Given the description of an element on the screen output the (x, y) to click on. 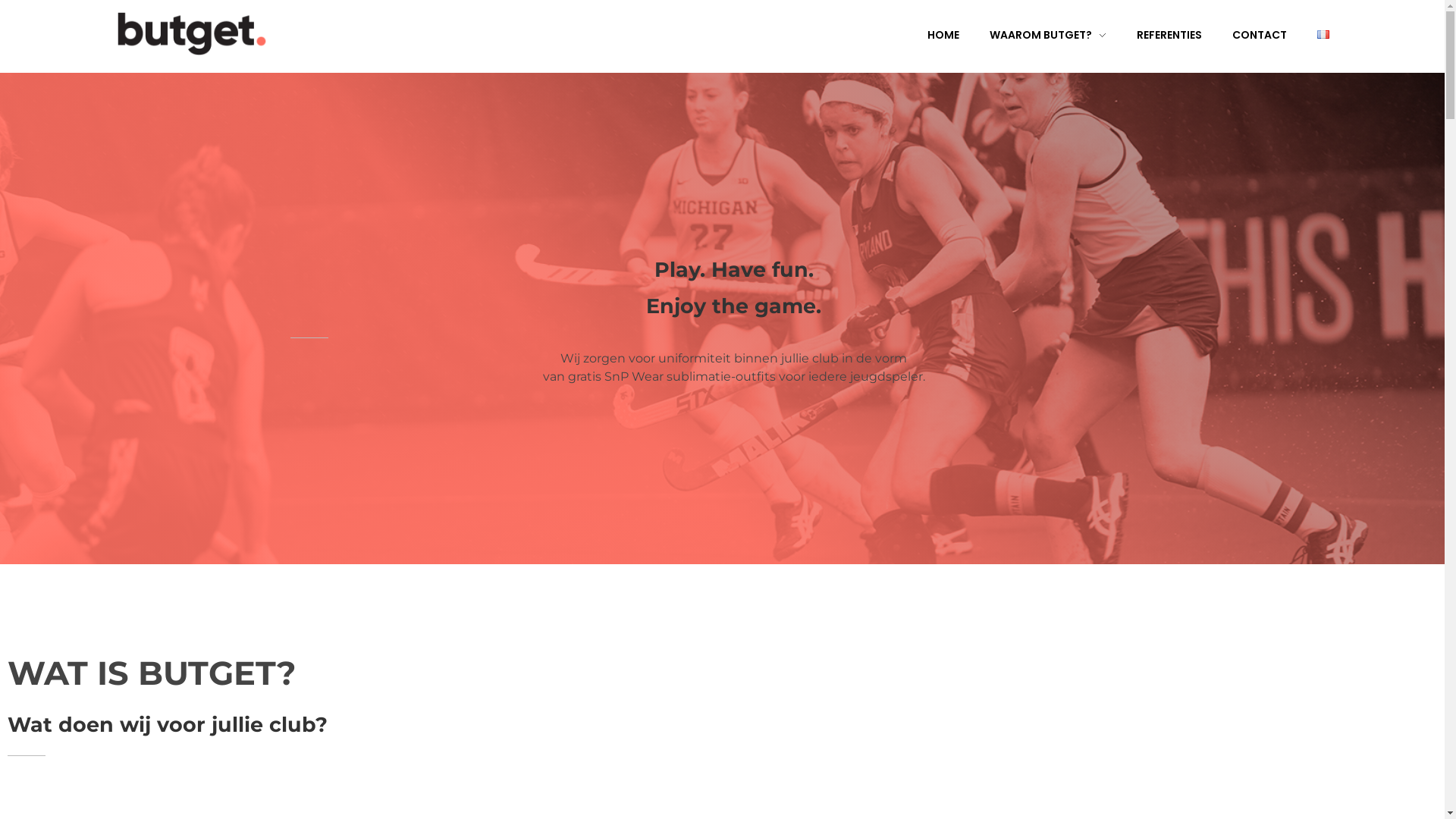
REFERENTIES Element type: text (1153, 35)
HOME Element type: text (928, 35)
WAAROM BUTGET? Element type: text (1032, 35)
Butget Element type: text (144, 64)
Butget Element type: hover (342, 779)
CONTACT Element type: text (1243, 35)
Butget Element type: hover (190, 33)
